Given the description of an element on the screen output the (x, y) to click on. 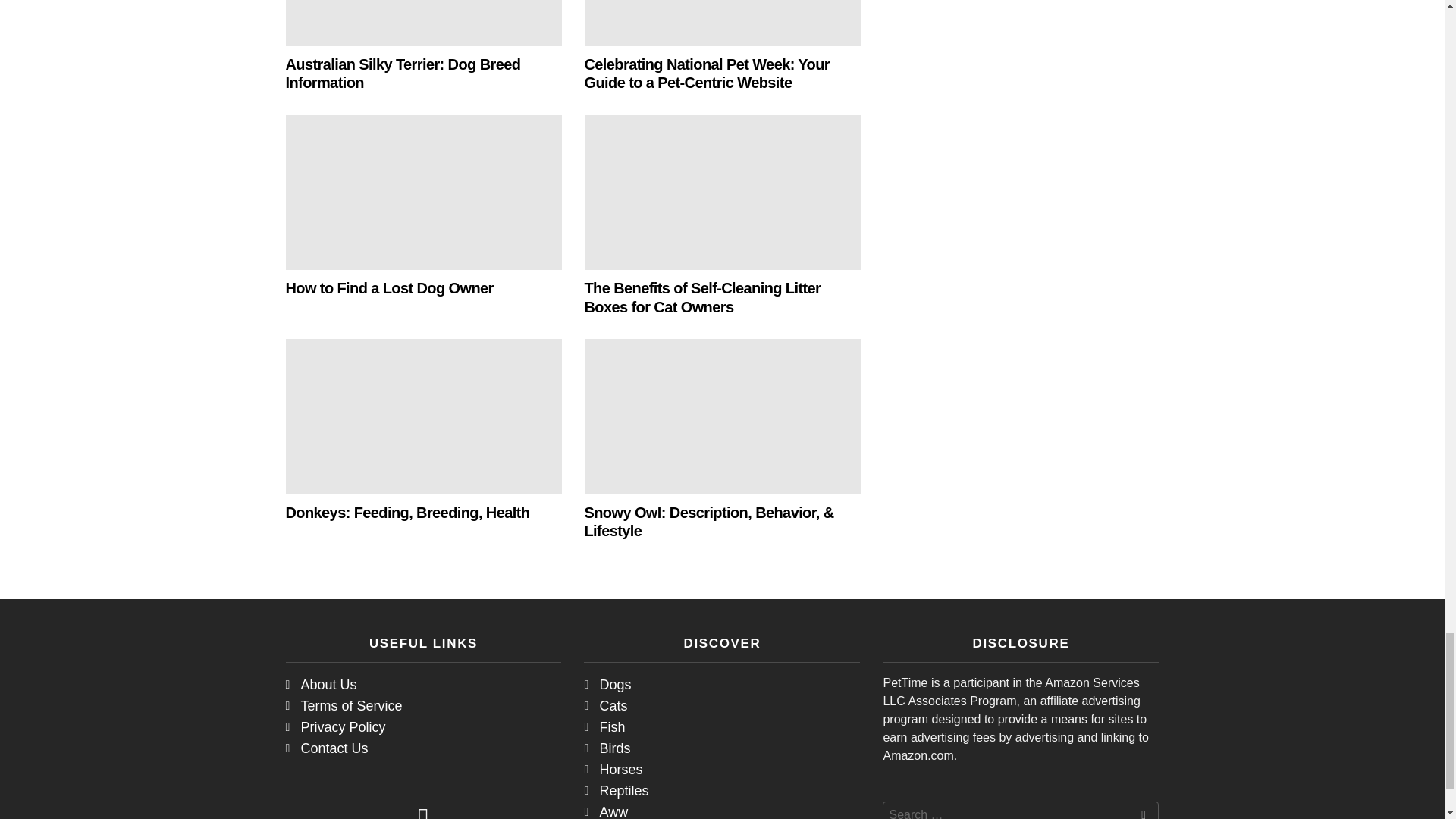
Australian Silky Terrier: Dog Breed Information (422, 22)
